Given the description of an element on the screen output the (x, y) to click on. 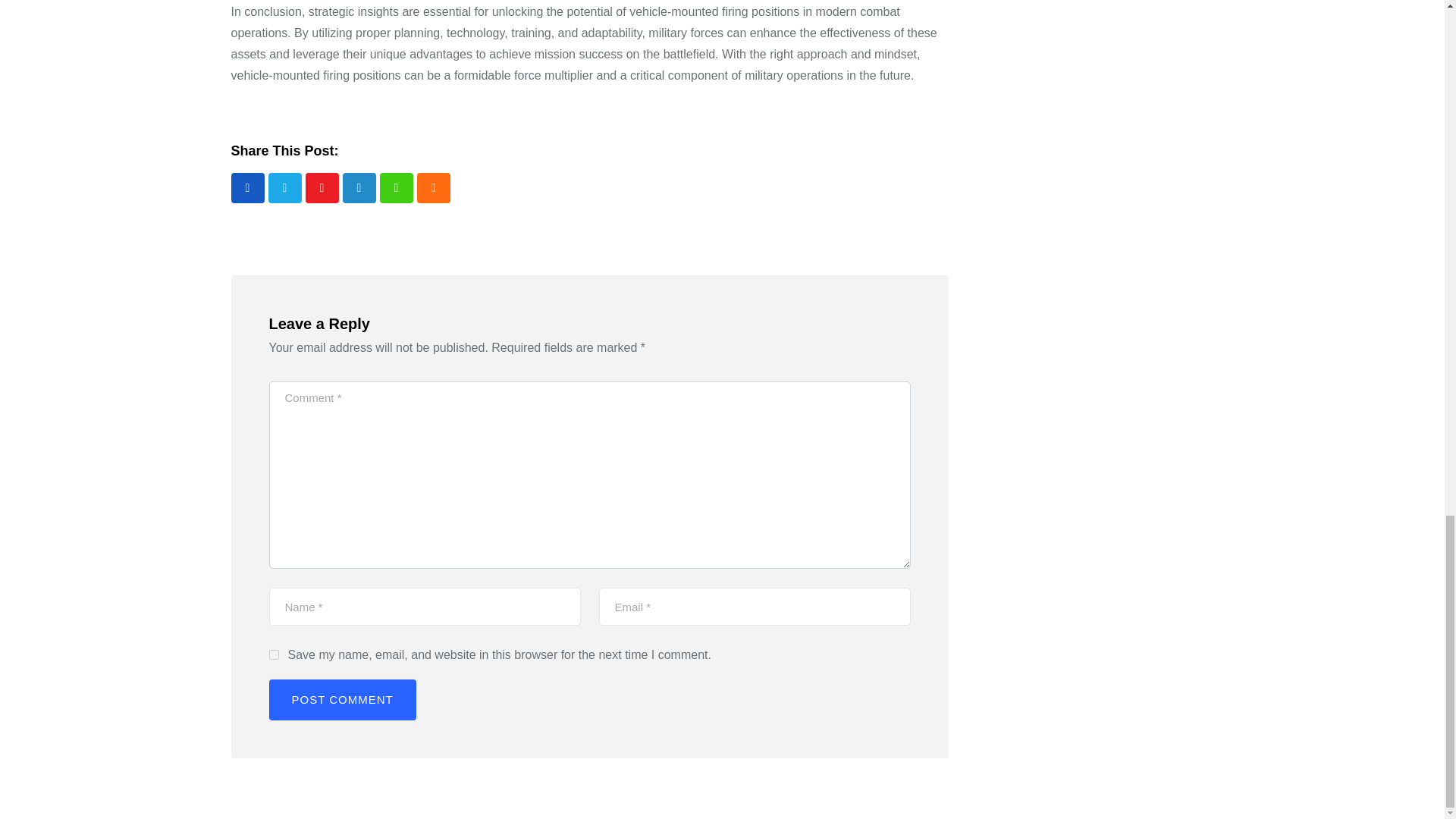
Post Comment (340, 699)
Post Comment (340, 699)
yes (272, 655)
